Given the description of an element on the screen output the (x, y) to click on. 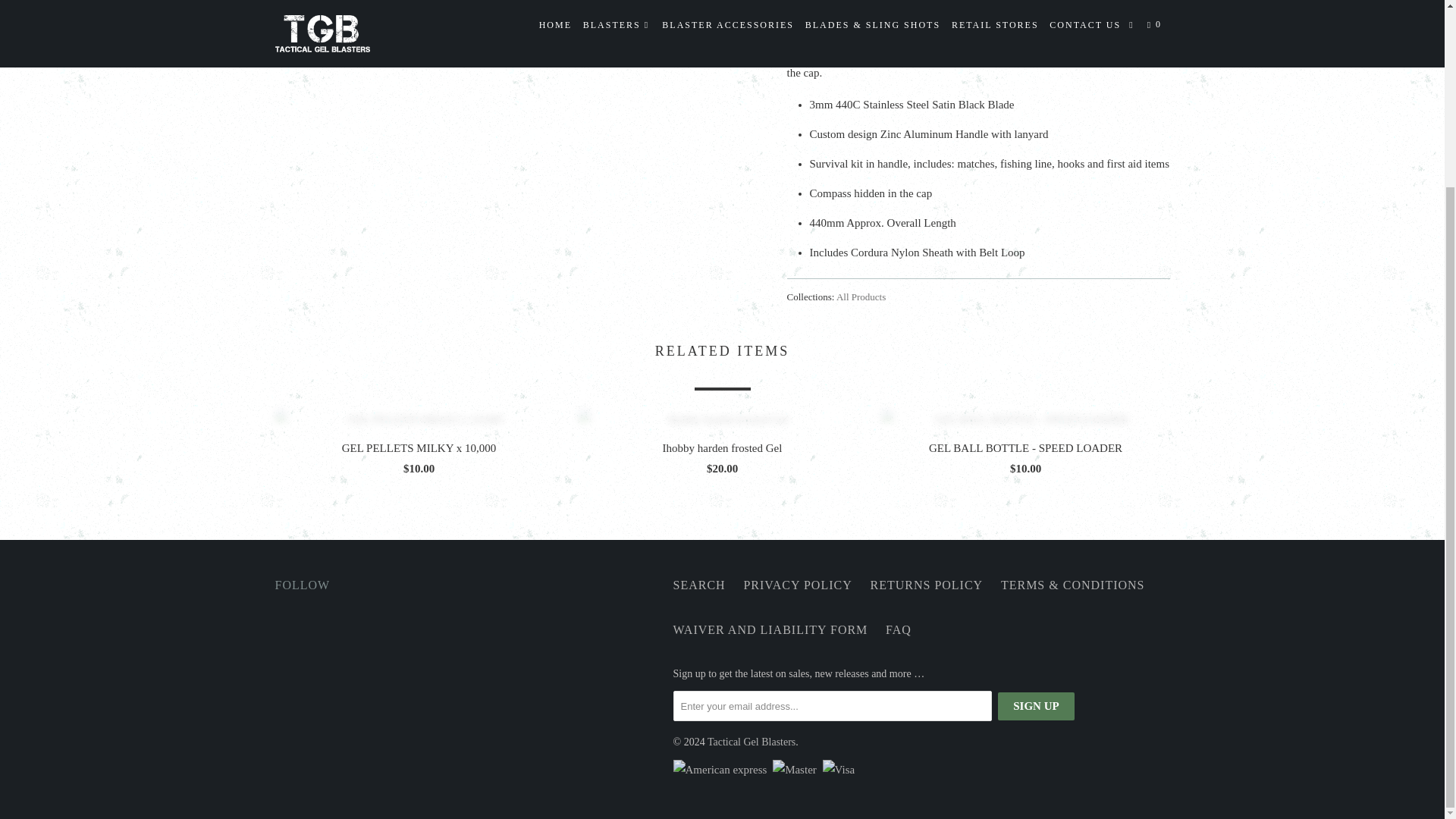
All Products (860, 296)
All Products (860, 296)
Sign Up (1035, 706)
SEARCH (698, 584)
